Given the description of an element on the screen output the (x, y) to click on. 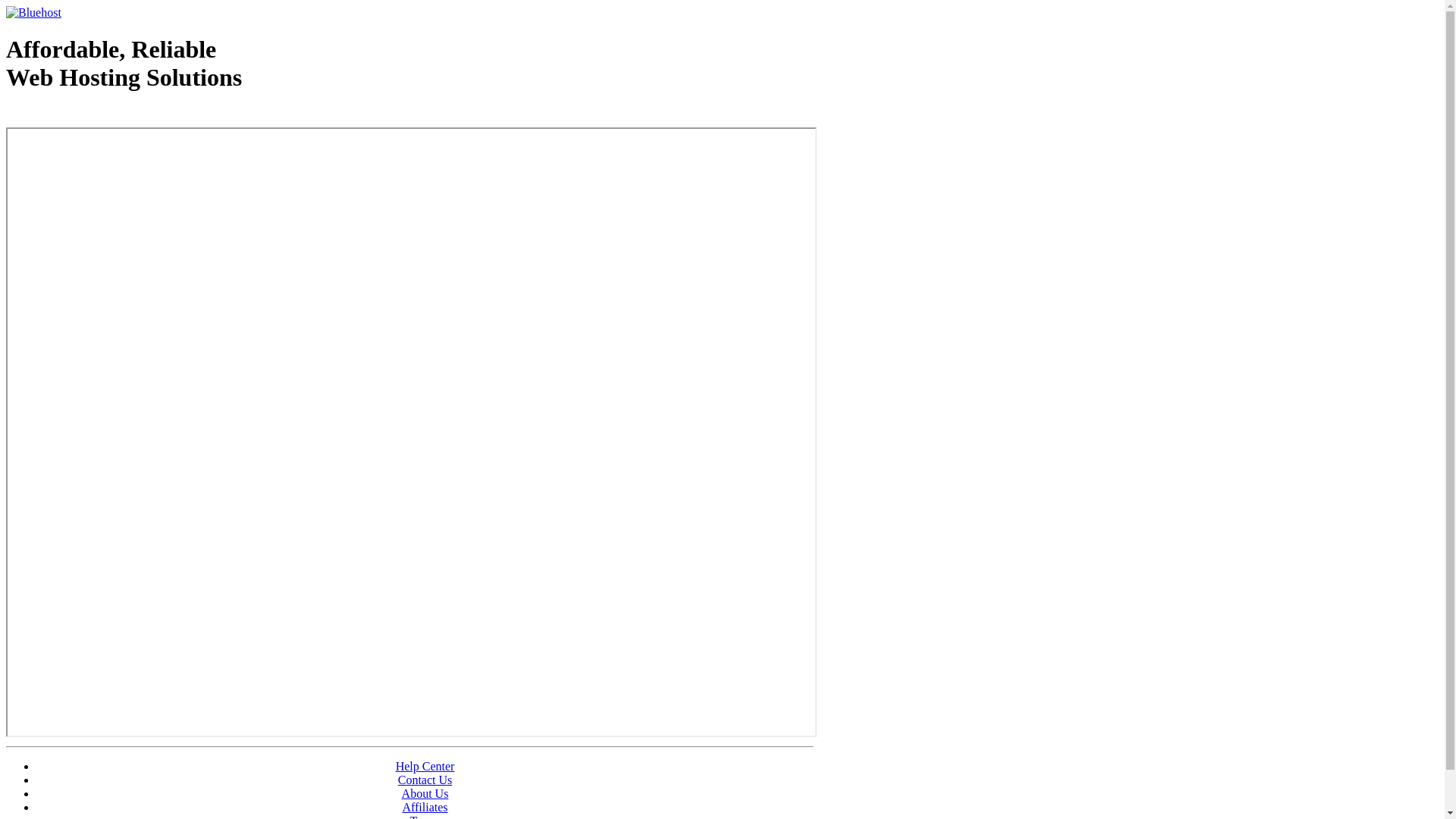
Web Hosting - courtesy of www.bluehost.com Element type: text (94, 115)
Help Center Element type: text (425, 765)
Contact Us Element type: text (425, 779)
About Us Element type: text (424, 793)
Affiliates Element type: text (424, 806)
